Given the description of an element on the screen output the (x, y) to click on. 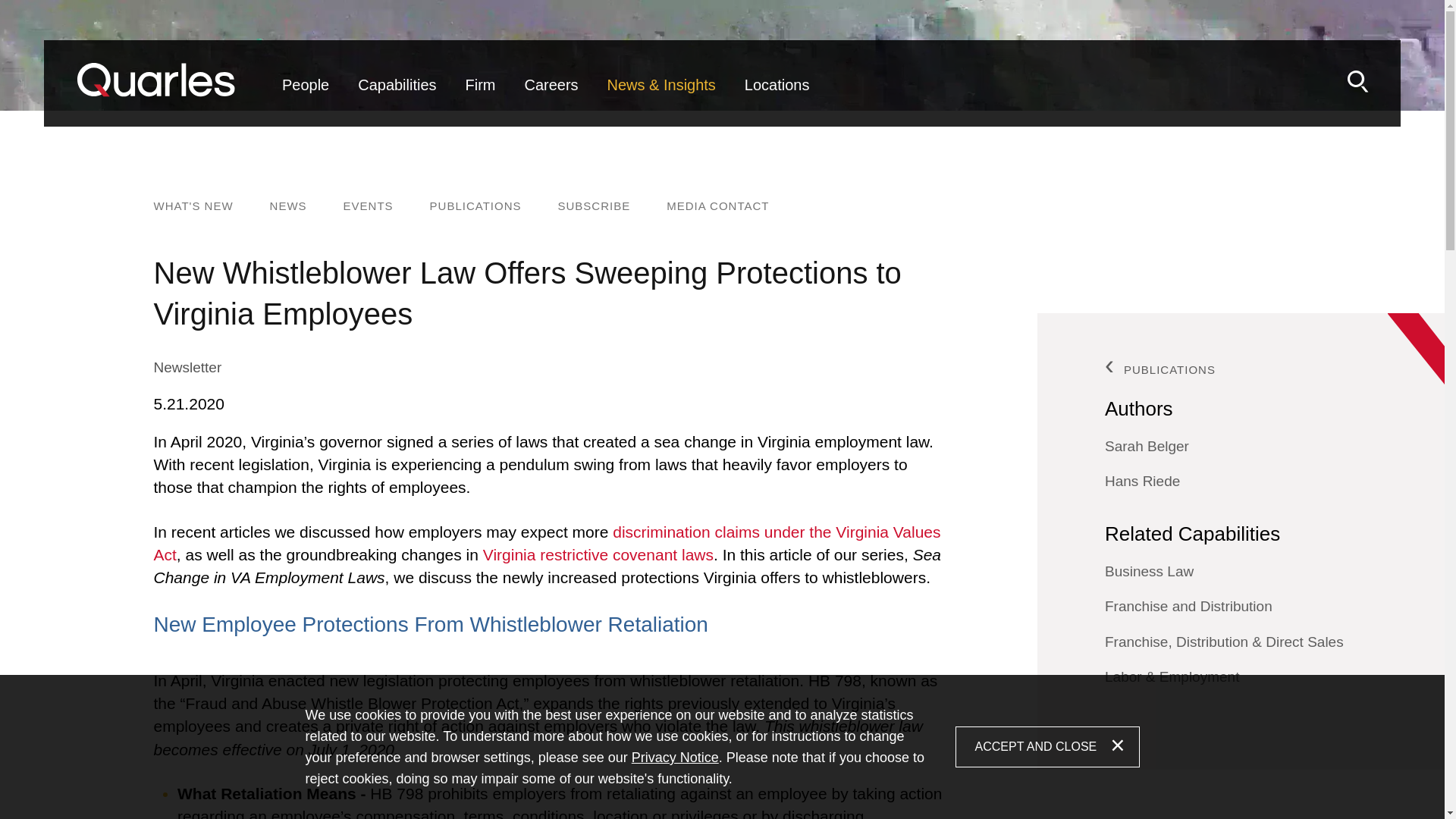
Firm (480, 97)
Search (1358, 81)
Main Content (663, 59)
Capabilities (396, 97)
Menu (671, 59)
Main Menu (671, 59)
People (305, 97)
